Given the description of an element on the screen output the (x, y) to click on. 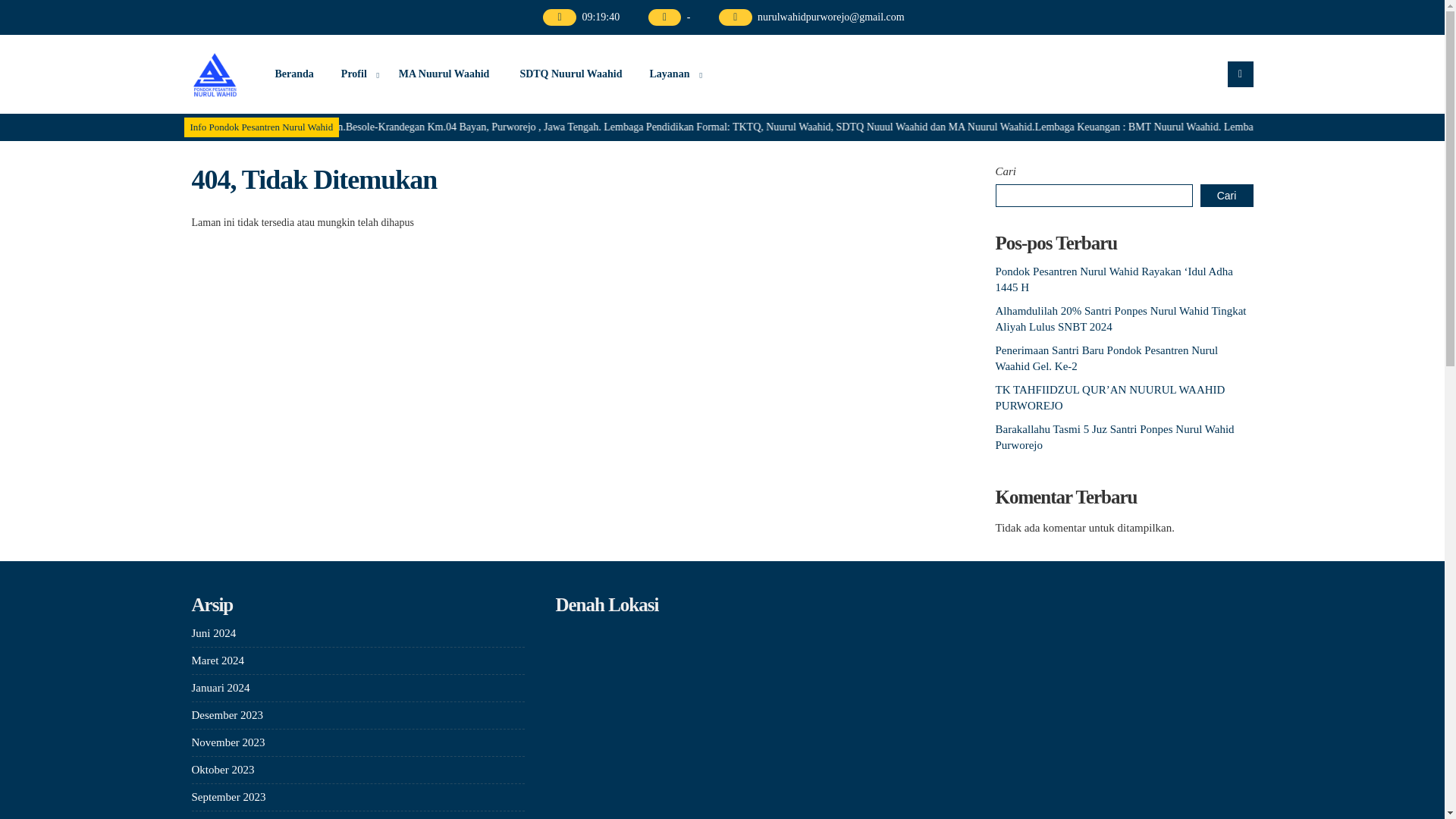
MA Nuurul Waahid (444, 74)
Juni 2024 (212, 633)
Barakallahu Tasmi 5 Juz Santri Ponpes Nurul Wahid Purworejo (1113, 437)
Januari 2024 (219, 687)
Cari (1225, 195)
SDTQ Nuurul Waahid (570, 74)
Maret 2024 (217, 660)
